Given the description of an element on the screen output the (x, y) to click on. 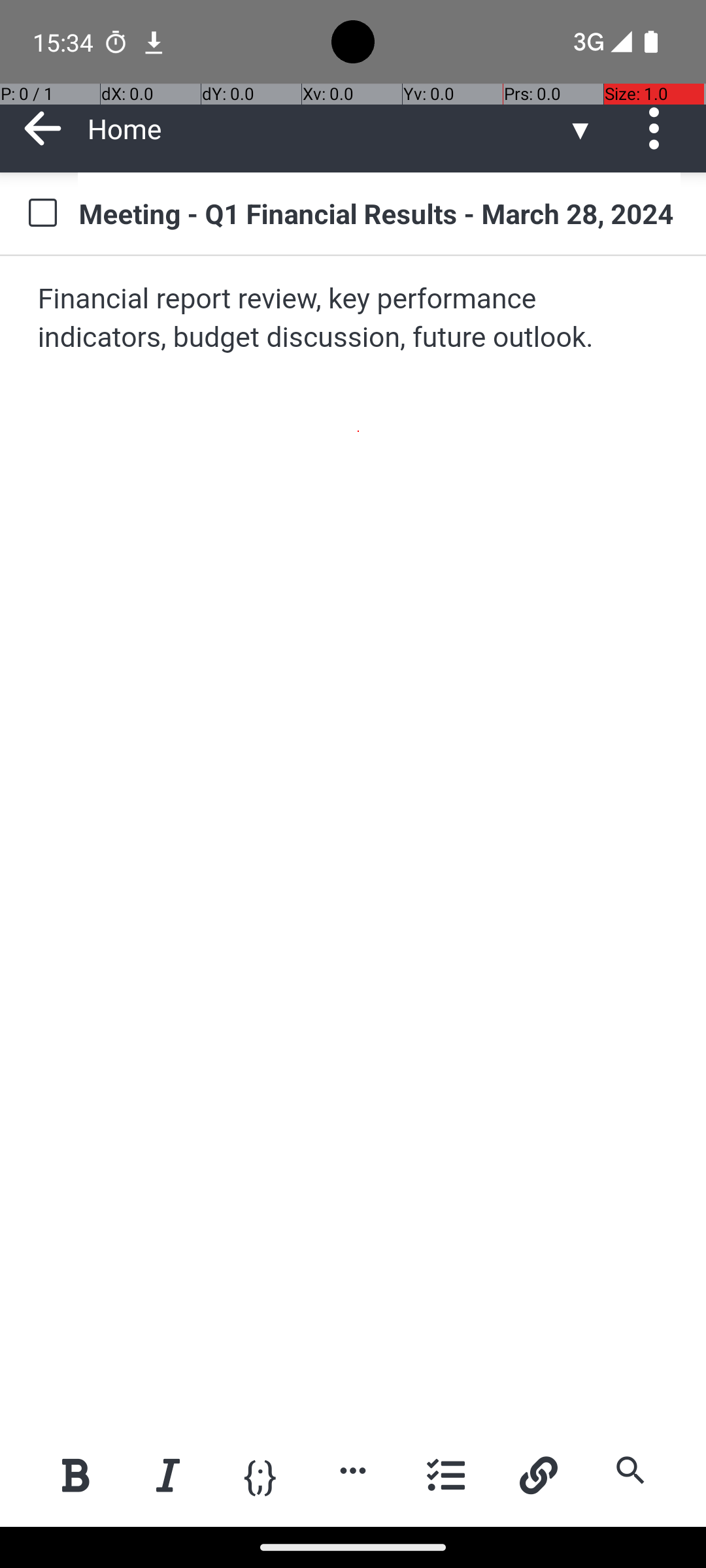
Board Meeting - Q1 Financial Results - March 28, 2024 Element type: android.widget.EditText (378, 213)
Financial report review, key performance indicators, budget discussion, future outlook. Element type: android.widget.EditText (354, 318)
